Given the description of an element on the screen output the (x, y) to click on. 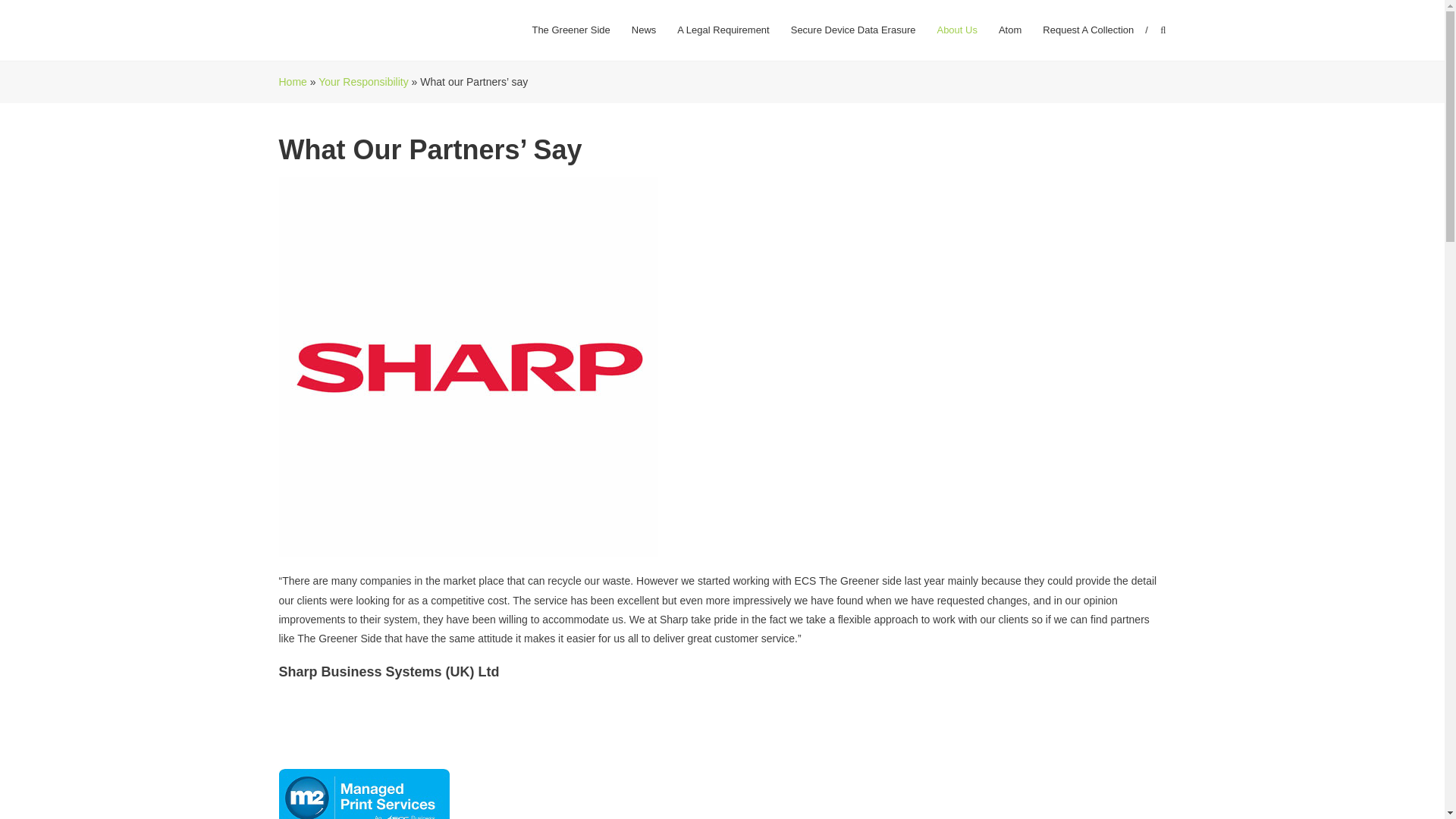
Your Responsibility (363, 81)
Home (293, 81)
Secure Device Data Erasure (852, 30)
Request A Collection (1088, 30)
Skip to content (34, 9)
A Legal Requirement (722, 30)
The Greener Side (570, 30)
